Given the description of an element on the screen output the (x, y) to click on. 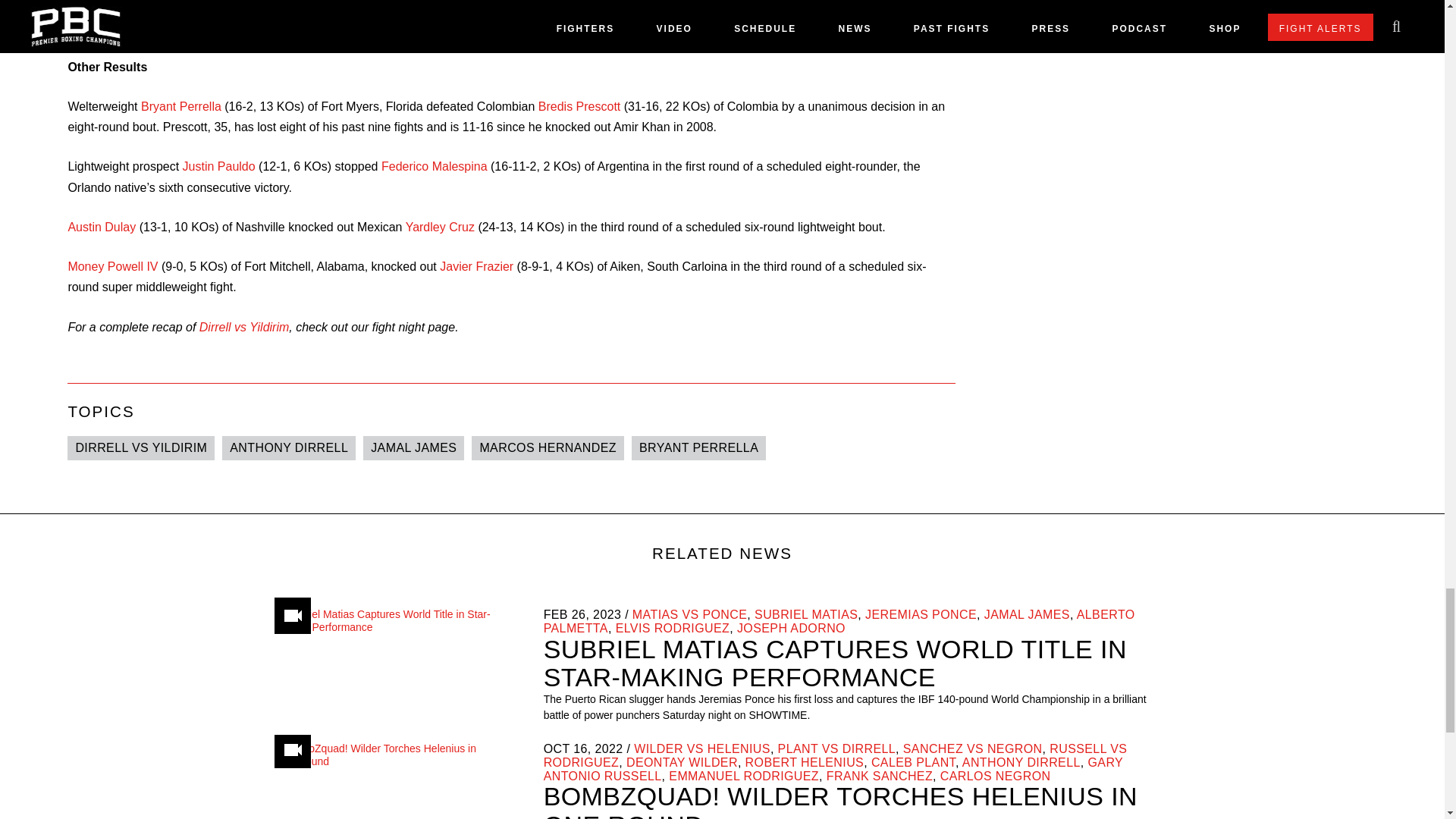
October (556, 748)
Austin Dulay (100, 226)
February (555, 614)
Federico Malespina (434, 165)
DIRRELL VS YILDIRIM (140, 447)
Javier Frazier (476, 266)
Bredis Prescott (579, 106)
Bryant Perrella (181, 106)
Dirrell vs Yildirim (244, 326)
MARCOS HERNANDEZ (547, 447)
